Given the description of an element on the screen output the (x, y) to click on. 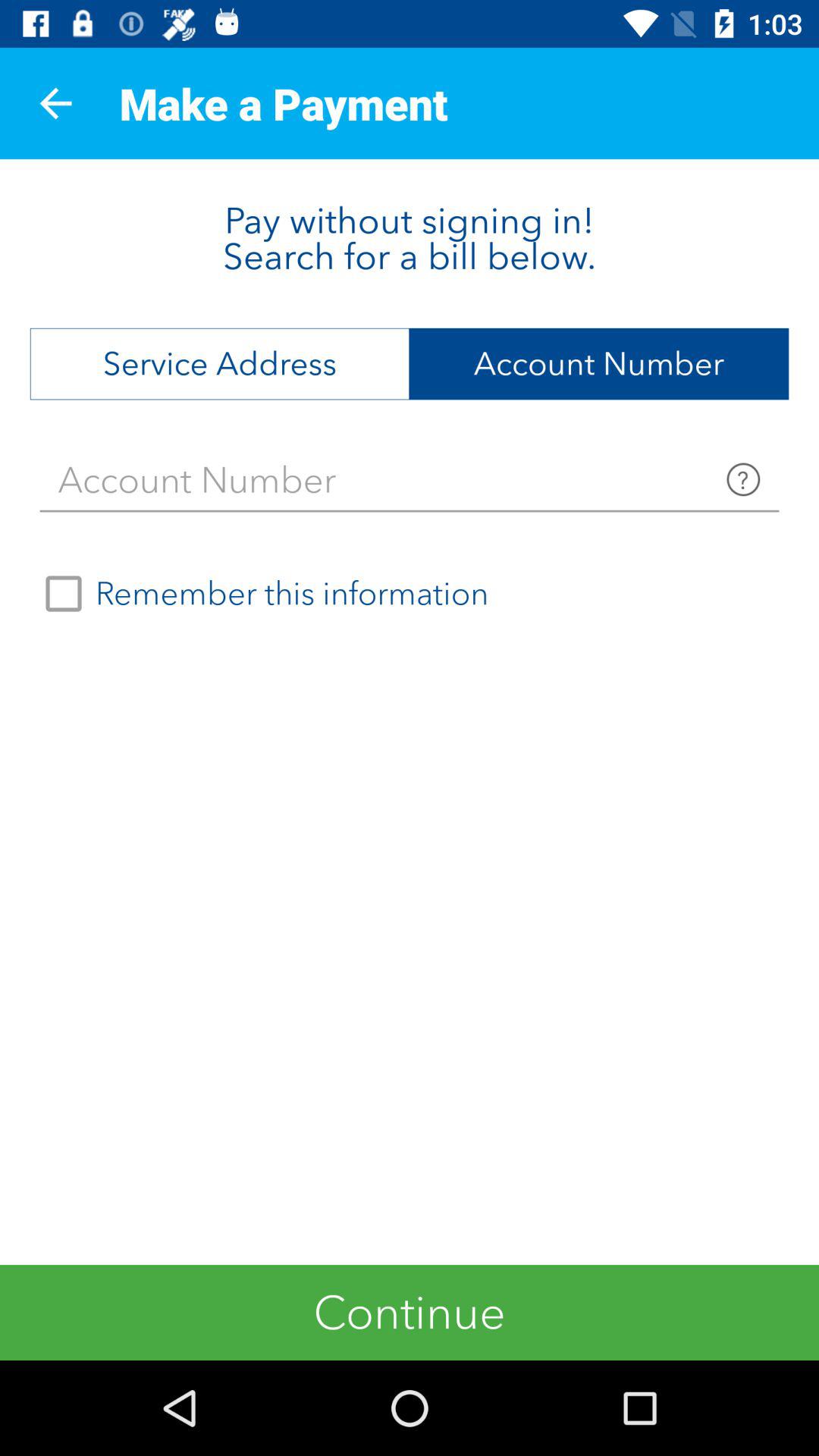
swipe to the account number item (598, 363)
